Given the description of an element on the screen output the (x, y) to click on. 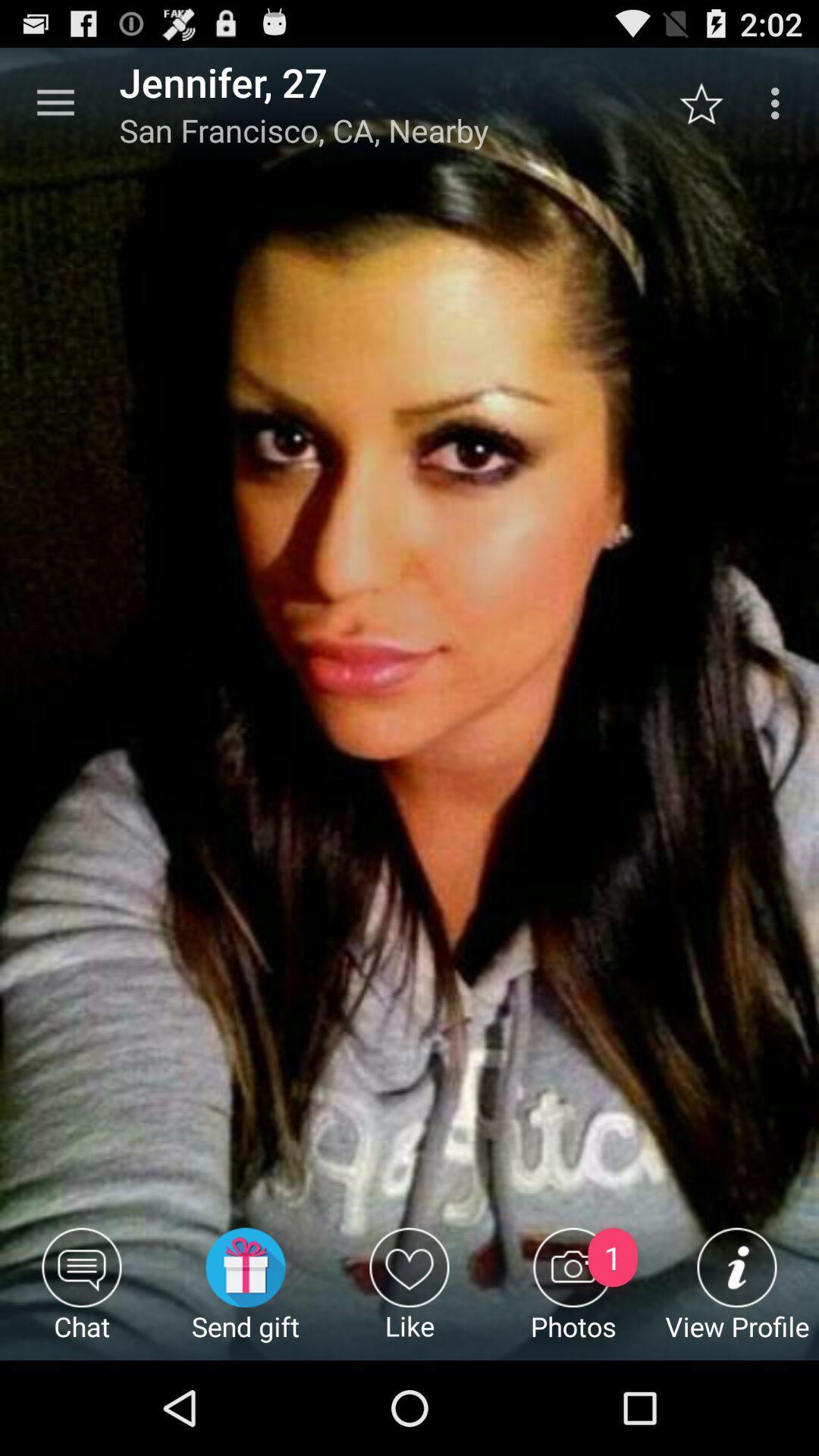
launch icon to the left of the jennifer, 27 icon (55, 103)
